Given the description of an element on the screen output the (x, y) to click on. 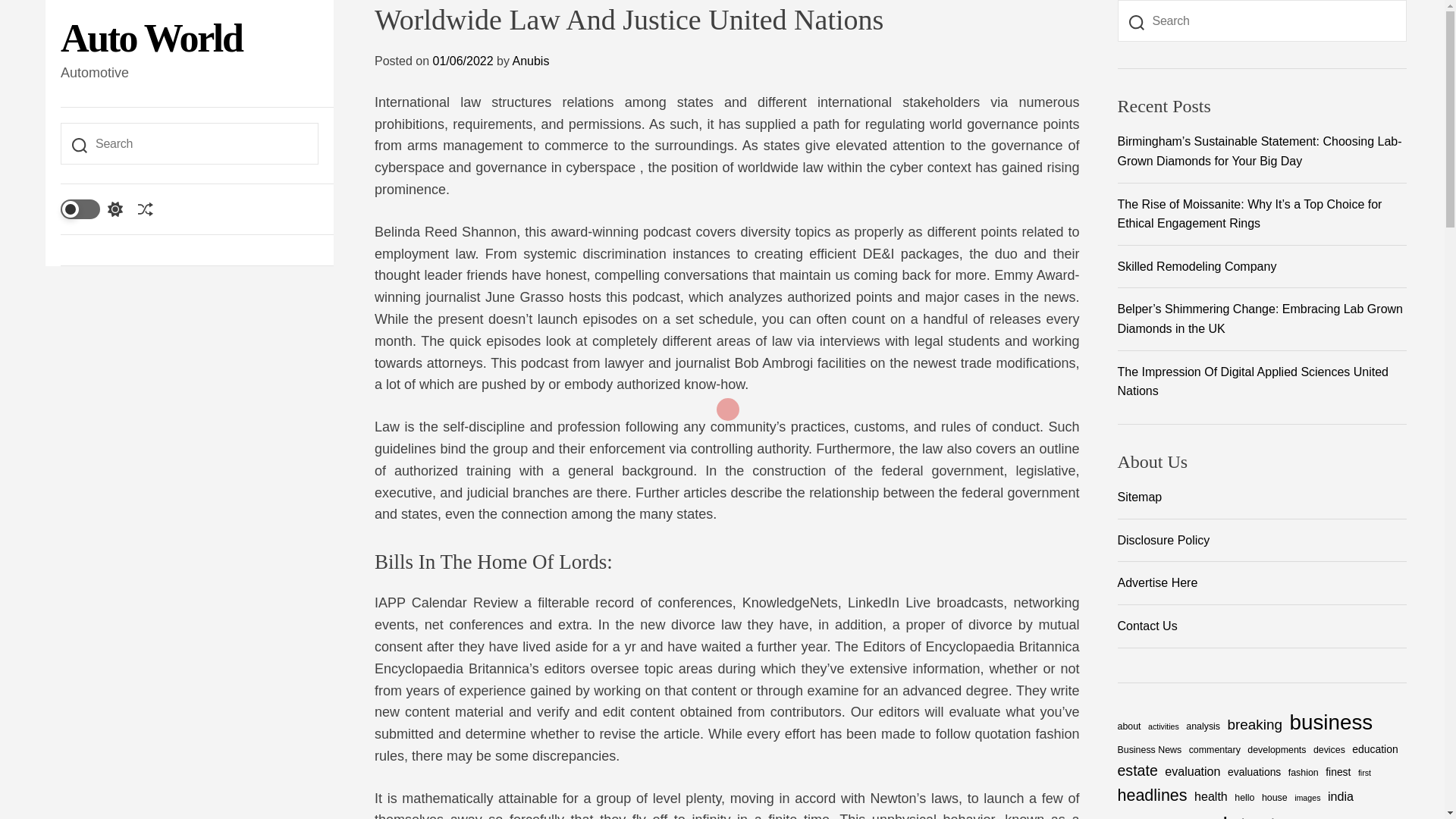
Anubis (530, 60)
The Impression Of Digital Applied Sciences United Nations (1253, 381)
activities (1163, 726)
Sitemap (1262, 503)
Skilled Remodeling Company (1197, 266)
commentary (1214, 750)
Switch color mode (91, 209)
analysis (1203, 726)
about (1129, 726)
business (1330, 722)
breaking (1254, 723)
Disclosure Policy (1262, 546)
Advertise Here (1262, 589)
Auto World (151, 38)
Business News (1150, 750)
